Given the description of an element on the screen output the (x, y) to click on. 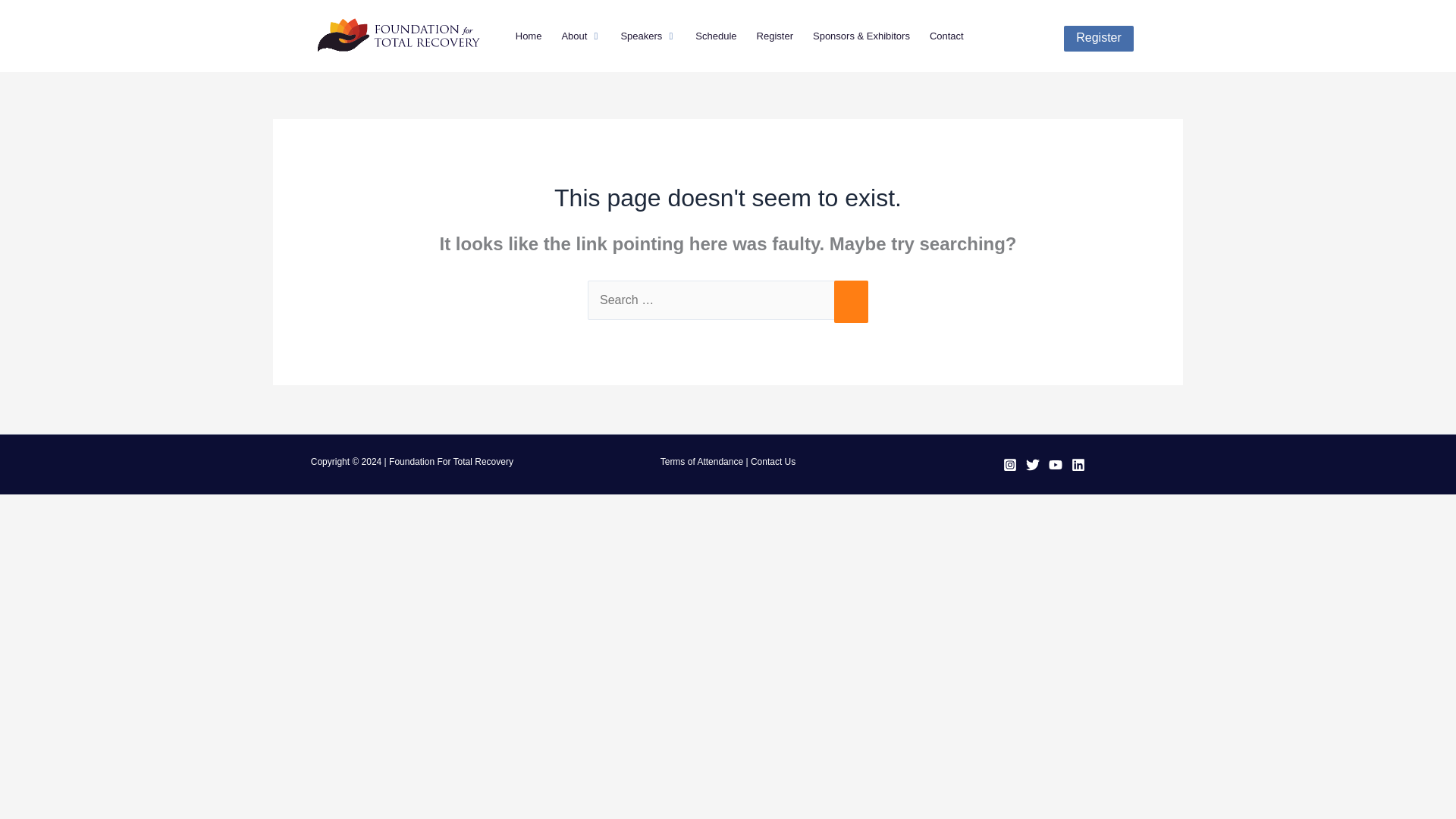
Terms of Attendance (701, 461)
Register (1099, 38)
Contact Us (772, 461)
Speakers (641, 36)
Contact (946, 36)
Register (775, 36)
Schedule (715, 36)
